Given the description of an element on the screen output the (x, y) to click on. 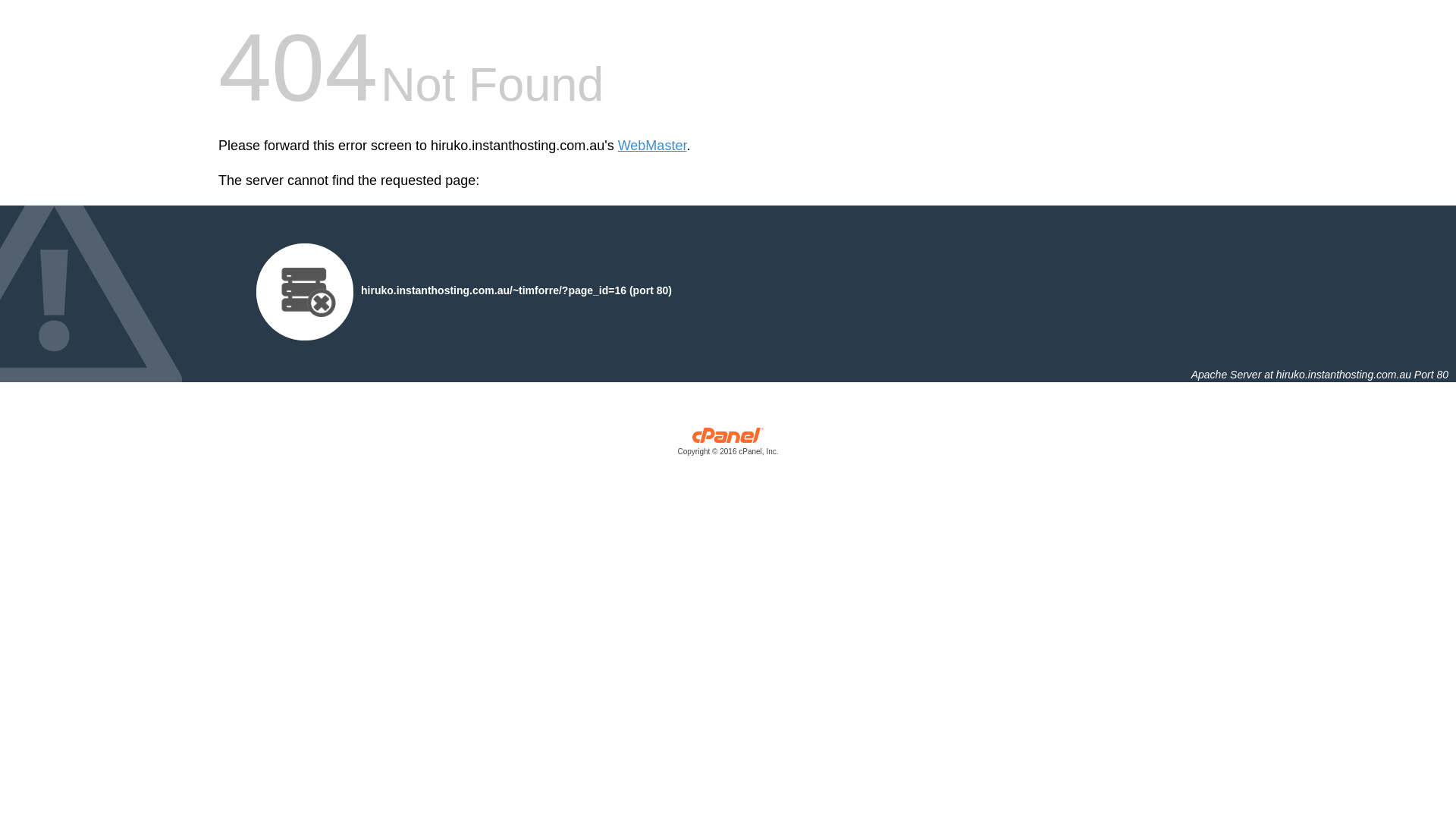
WebMaster Element type: text (652, 145)
